Given the description of an element on the screen output the (x, y) to click on. 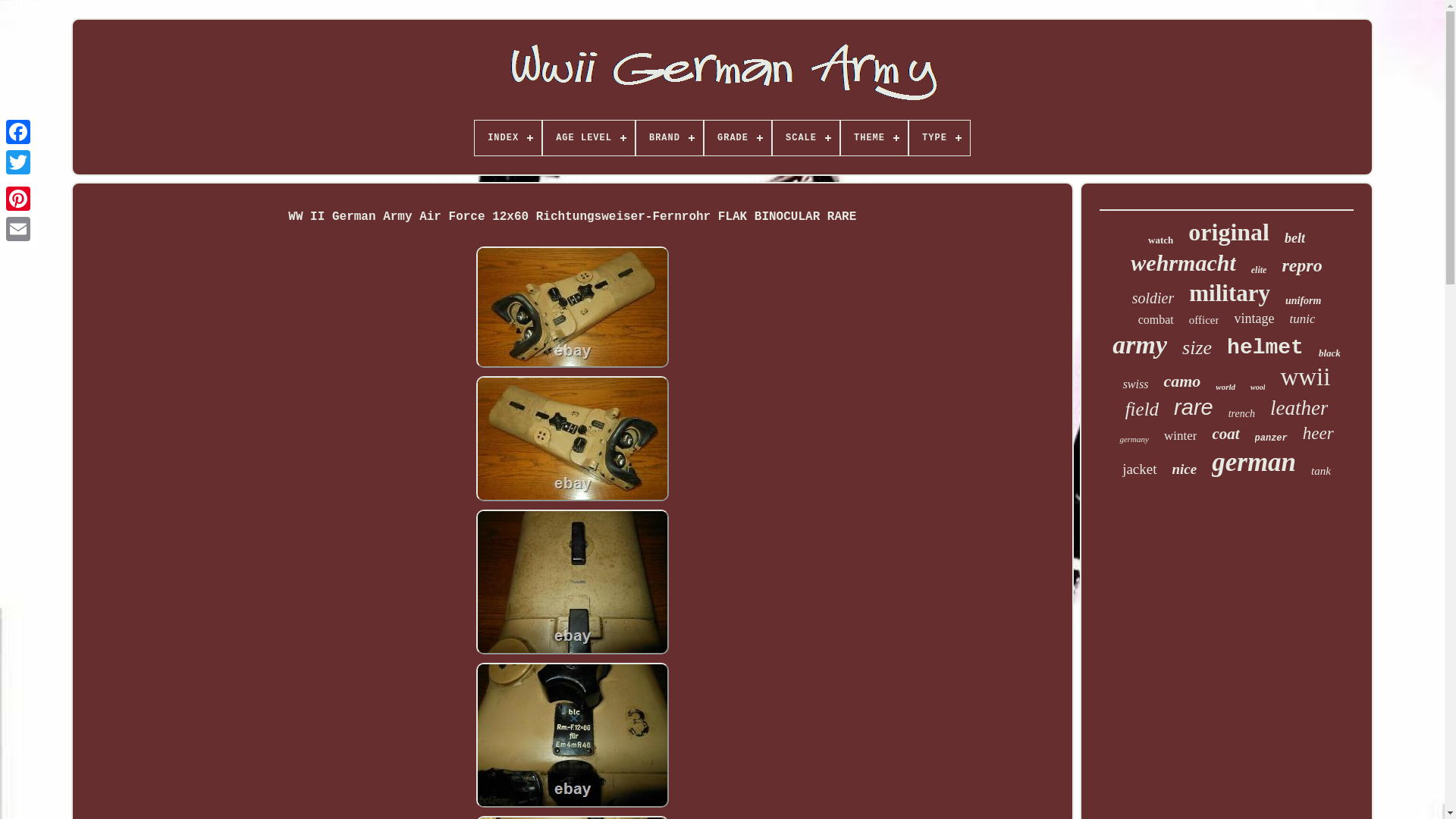
BRAND (669, 137)
GRADE (737, 137)
AGE LEVEL (588, 137)
INDEX (507, 137)
